Given the description of an element on the screen output the (x, y) to click on. 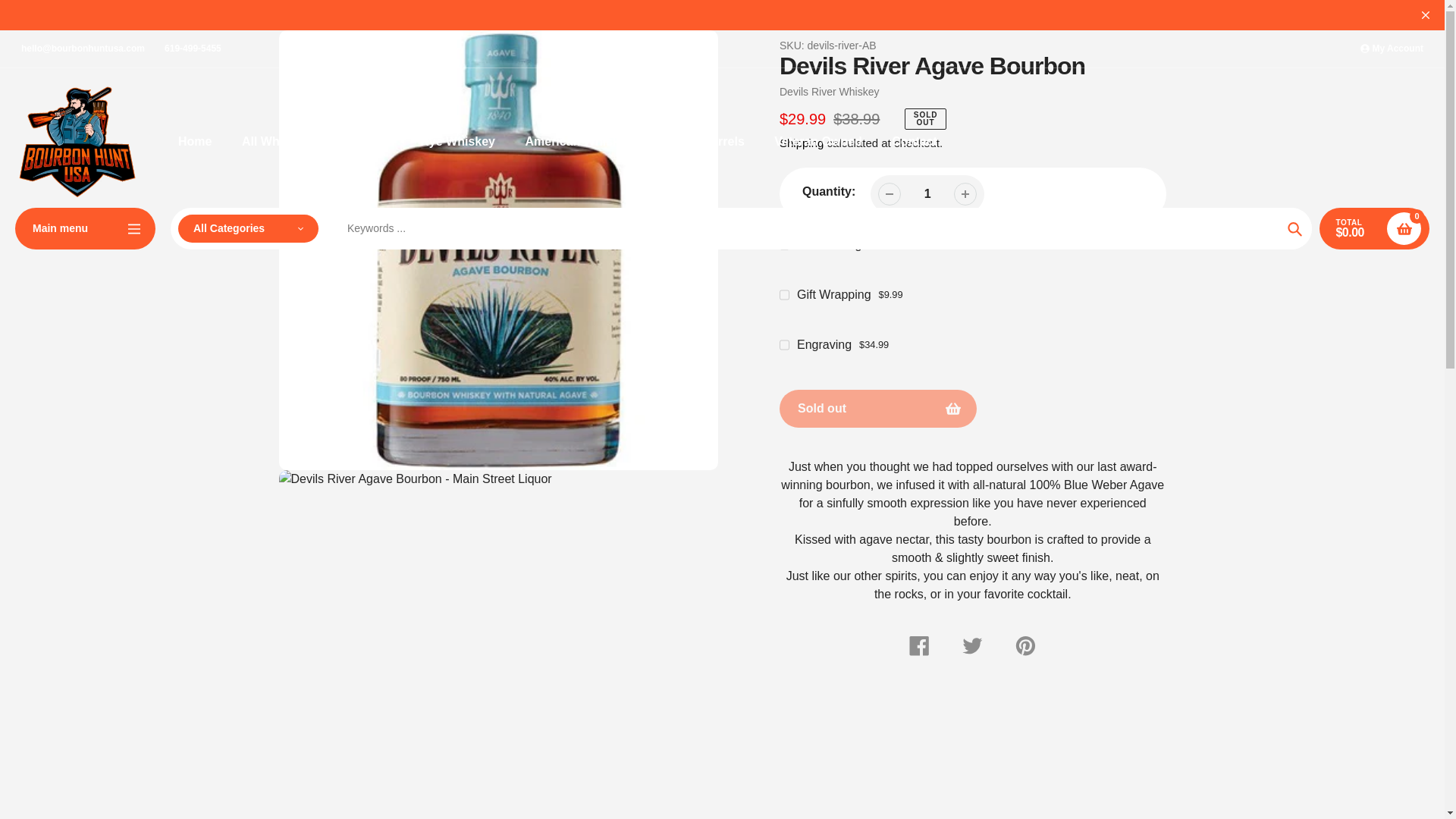
1 (927, 193)
Veteran Owned (817, 141)
All Categories (247, 228)
Contact (914, 141)
Single Barrels (703, 141)
Main menu (84, 228)
My Account (1391, 48)
Home (194, 141)
All Whiskey (275, 141)
Rye Whiskey (457, 141)
Bourbon (364, 141)
American Whiskey (577, 141)
619-499-5455 (192, 48)
